Given the description of an element on the screen output the (x, y) to click on. 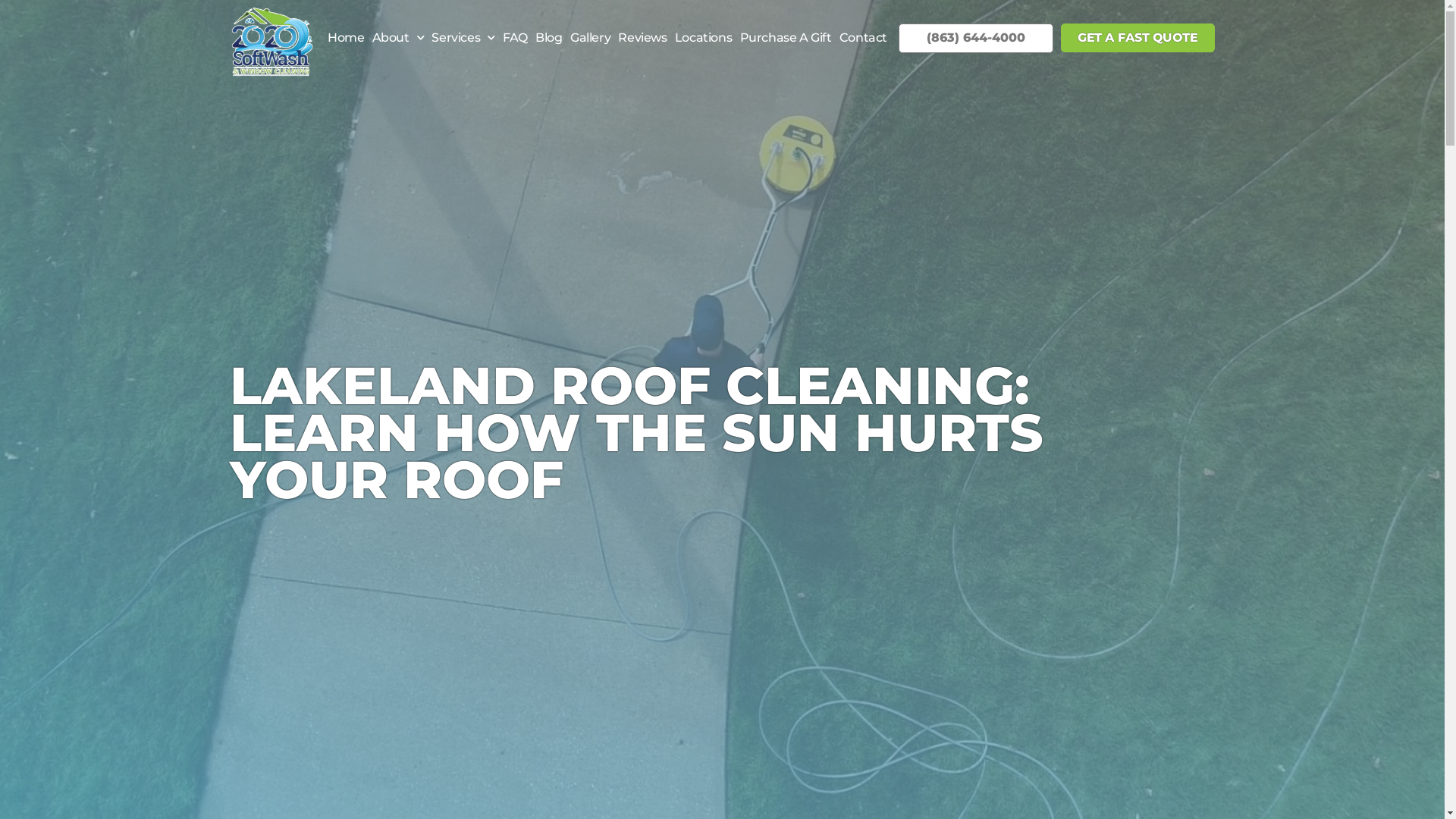
About Element type: text (397, 37)
Blog Element type: text (548, 37)
FAQ Element type: text (514, 37)
Reviews Element type: text (642, 37)
GET A FAST QUOTE Element type: text (1137, 37)
(863) 644-4000 Element type: text (975, 37)
Locations Element type: text (703, 37)
Purchase A Gift Element type: text (784, 37)
Services Element type: text (462, 37)
Gallery Element type: text (590, 37)
Contact Element type: text (863, 37)
Home Element type: text (345, 37)
